Given the description of an element on the screen output the (x, y) to click on. 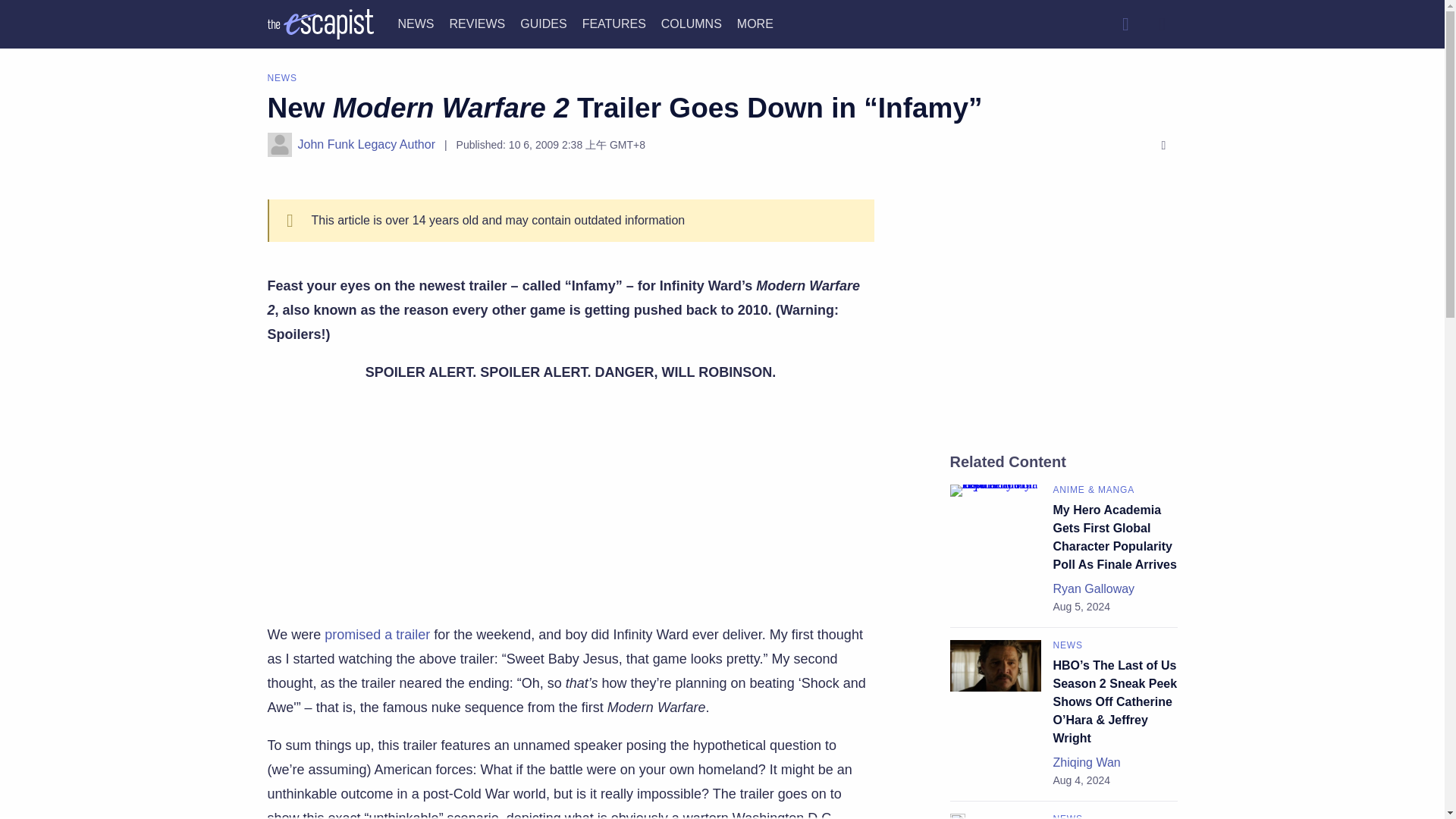
NEWS (415, 23)
REVIEWS (476, 23)
COLUMNS (691, 23)
FEATURES (614, 23)
Search (1124, 24)
Dark Mode (1161, 24)
GUIDES (542, 23)
